Given the description of an element on the screen output the (x, y) to click on. 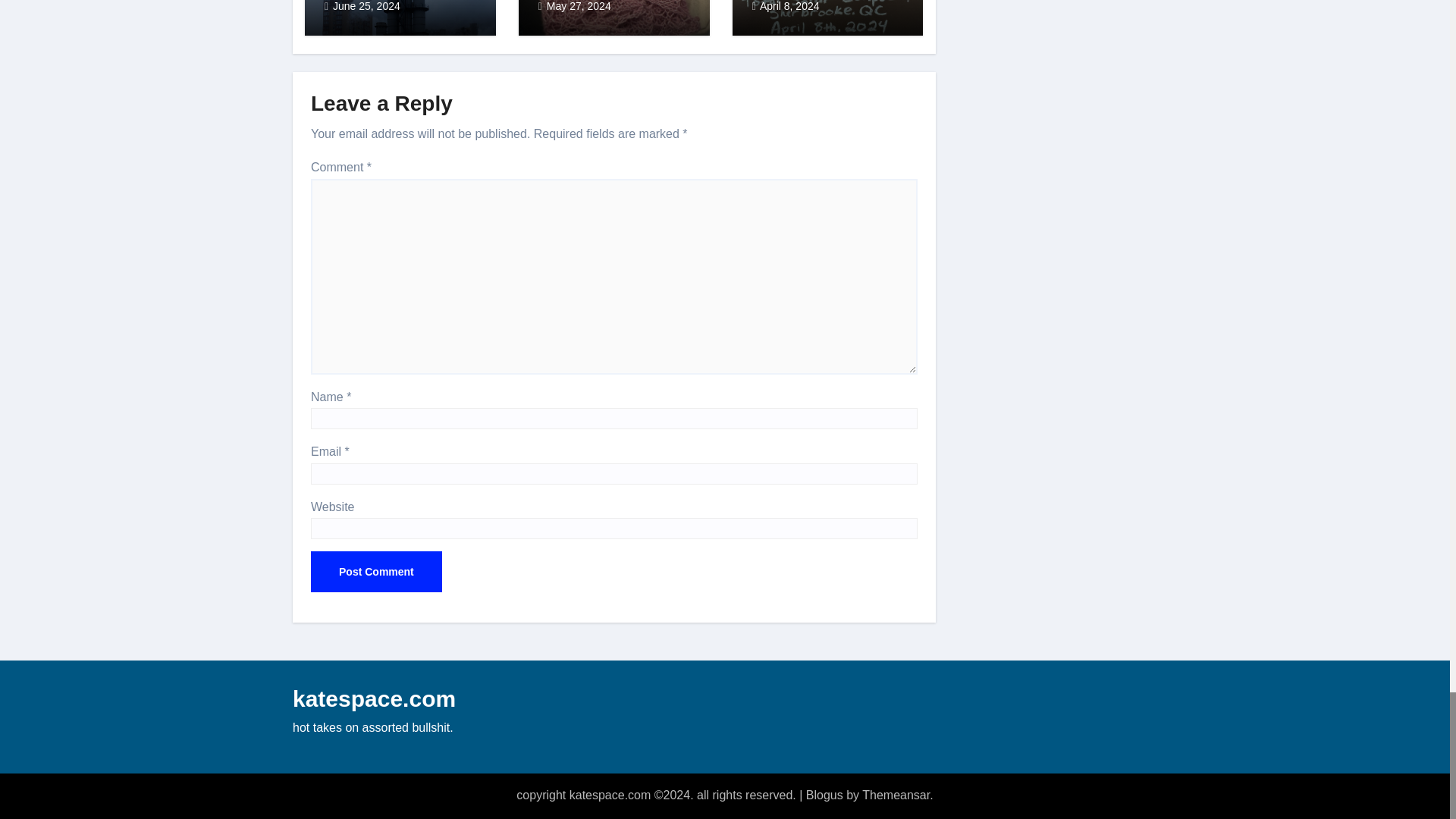
May 27, 2024 (579, 6)
Post Comment (376, 571)
Eclipsed, or Three-and-a-half minutes in Totality (826, 5)
June 25, 2024 (366, 6)
April 8, 2024 (789, 6)
